Given the description of an element on the screen output the (x, y) to click on. 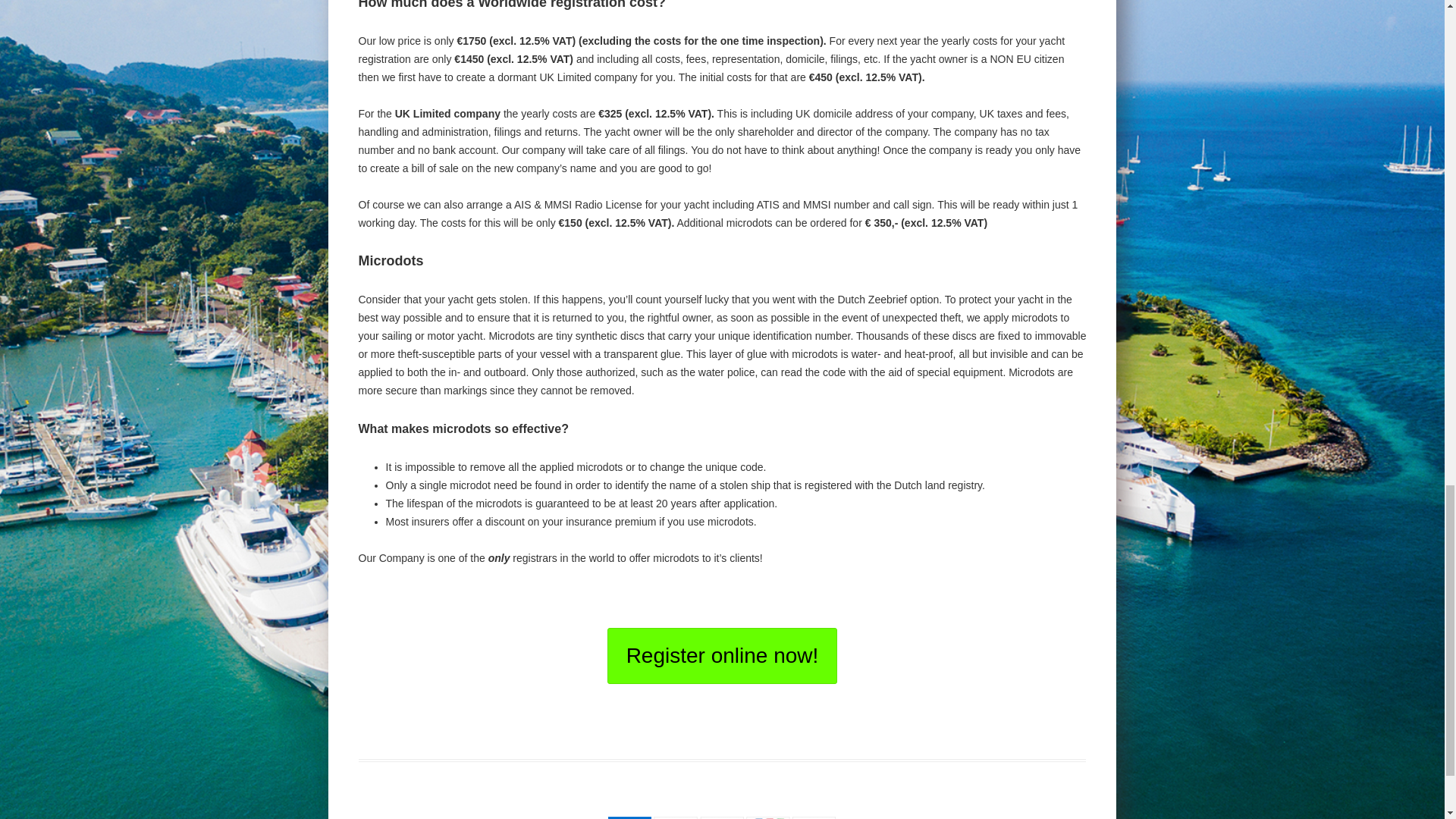
Register online now! (722, 655)
